Given the description of an element on the screen output the (x, y) to click on. 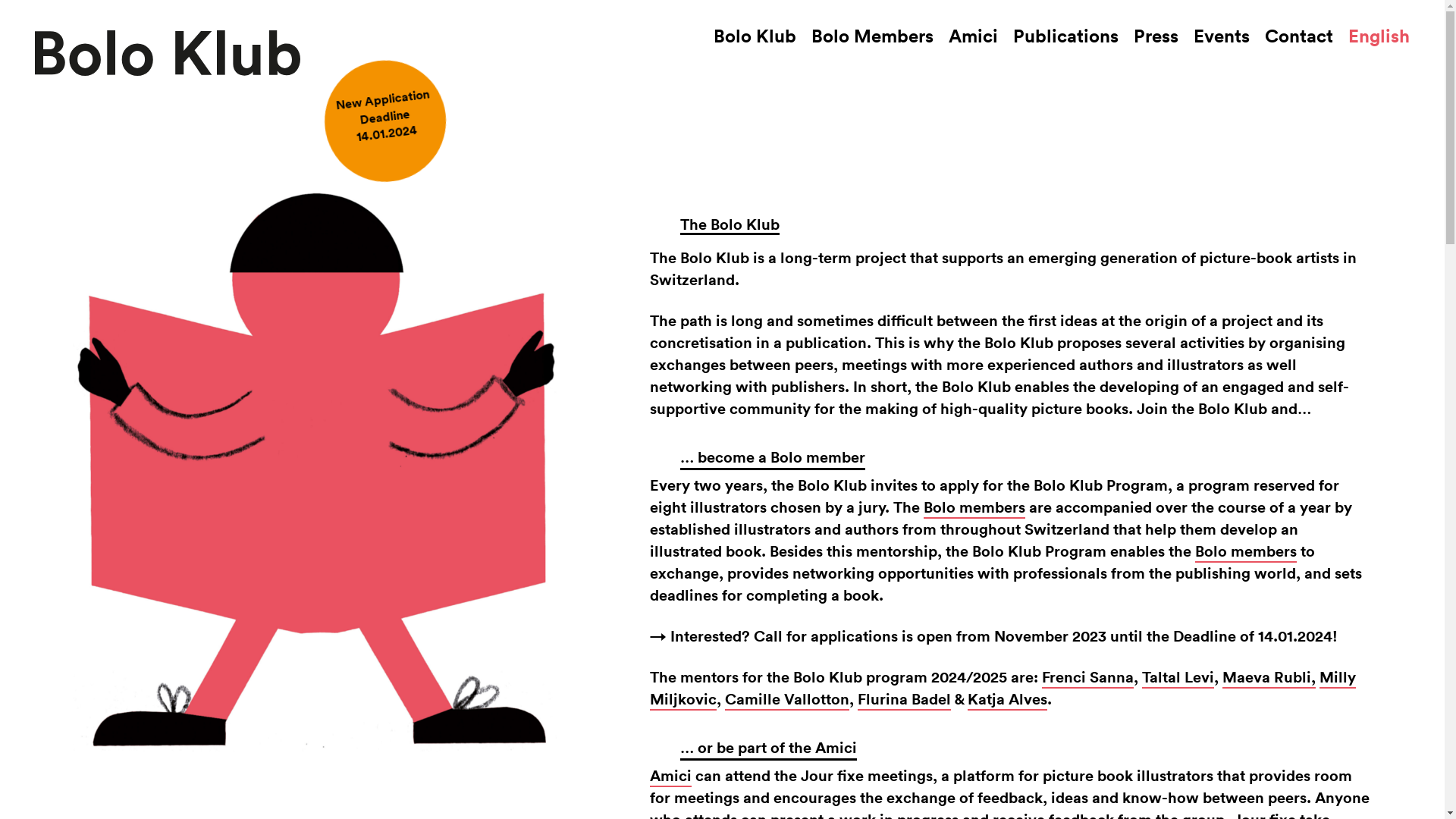
Contact Element type: text (1298, 35)
Bolo Klub Element type: text (754, 35)
Press Element type: text (1155, 35)
Amici Element type: text (670, 776)
Milly Miljkovic Element type: text (1002, 688)
Amici Element type: text (972, 35)
Flurina Badel Element type: text (903, 699)
Bolo Members Element type: text (872, 35)
Frenci Sanna Element type: text (1087, 677)
English Element type: text (1378, 35)
Bolo members Element type: text (1245, 551)
Events Element type: text (1221, 35)
New Application Deadline
14.01.2024 Element type: text (382, 109)
Katja Alves Element type: text (1007, 699)
Taltal Levi Element type: text (1178, 677)
Camille Vallotton Element type: text (786, 699)
Bolo members Element type: text (974, 507)
Publications Element type: text (1065, 35)
Maeva Rubli, Element type: text (1268, 677)
